Given the description of an element on the screen output the (x, y) to click on. 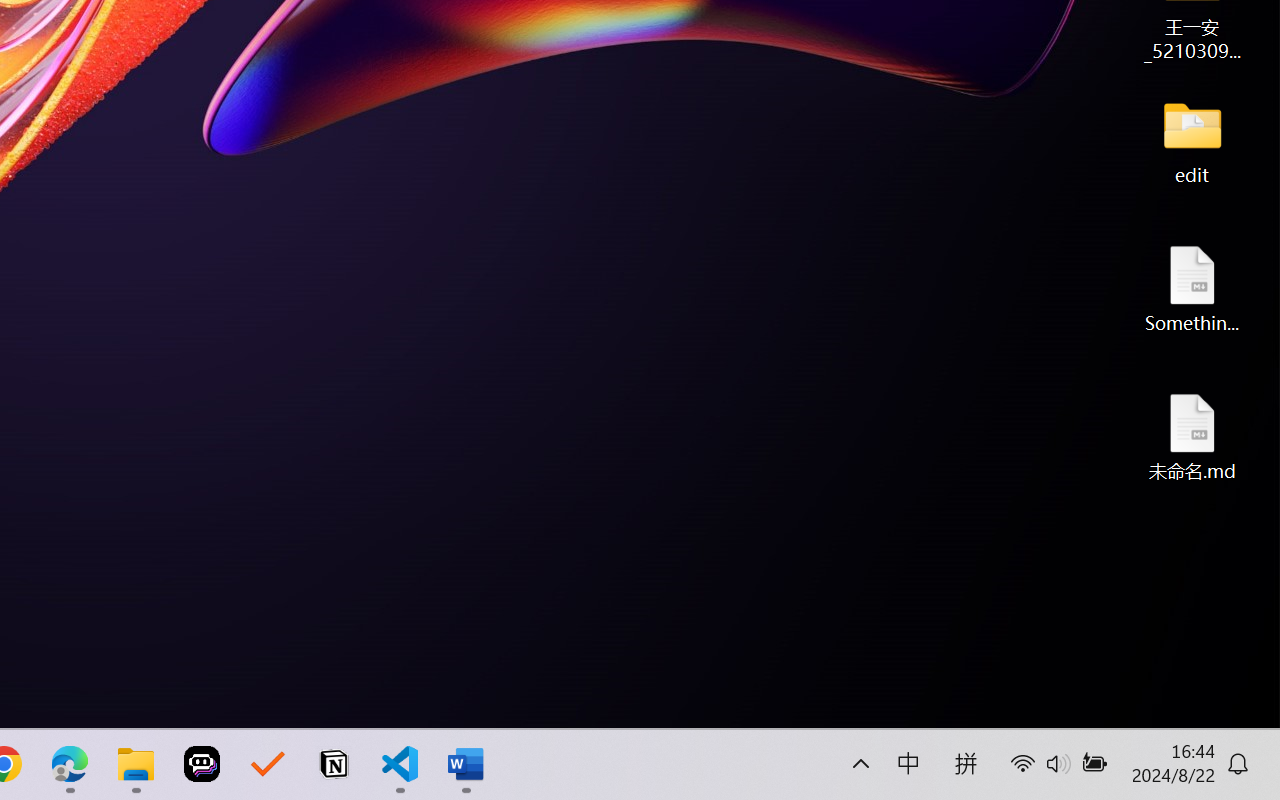
edit (1192, 140)
